Given the description of an element on the screen output the (x, y) to click on. 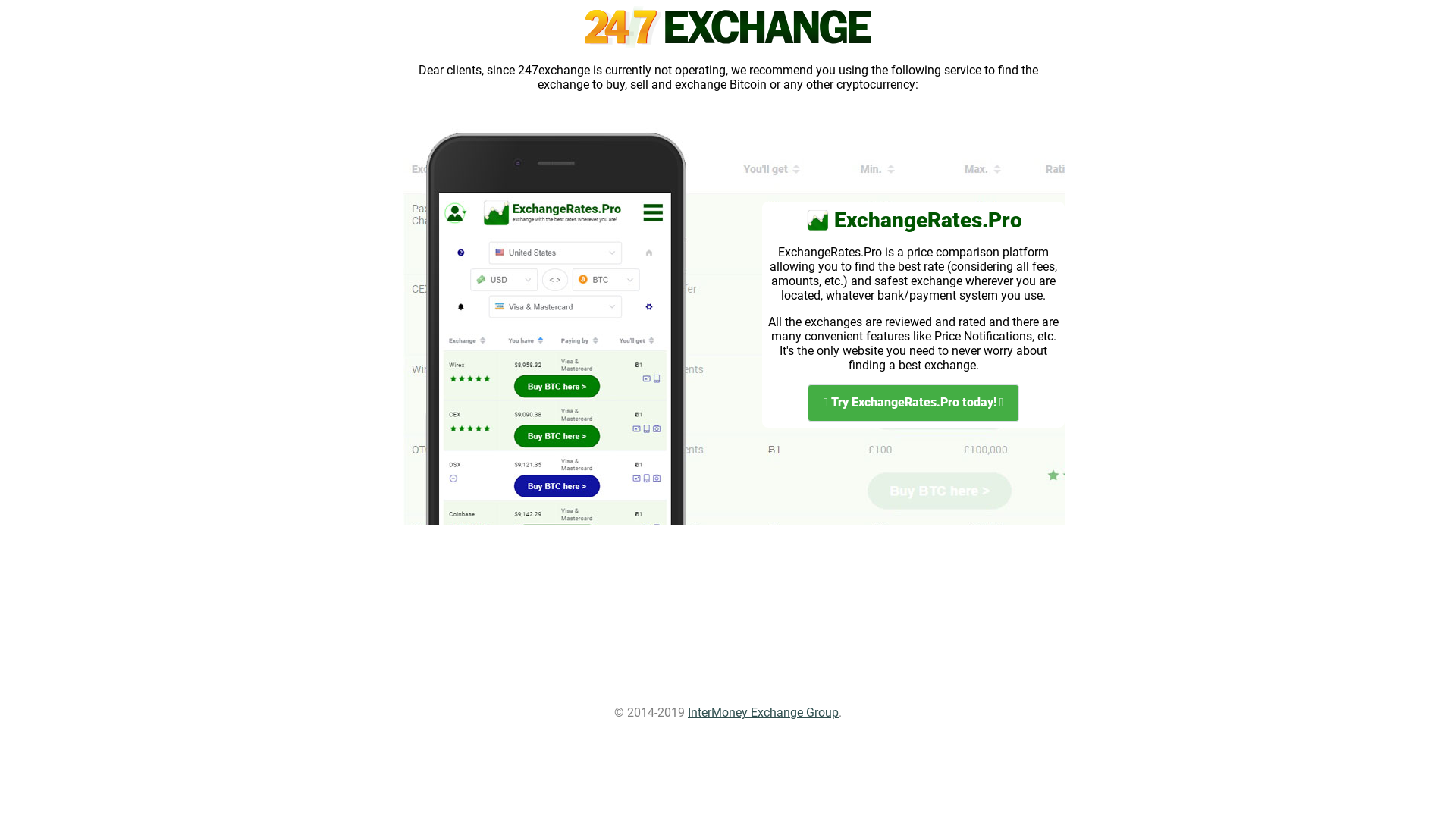
InterMoney Exchange Group Element type: text (762, 712)
